Given the description of an element on the screen output the (x, y) to click on. 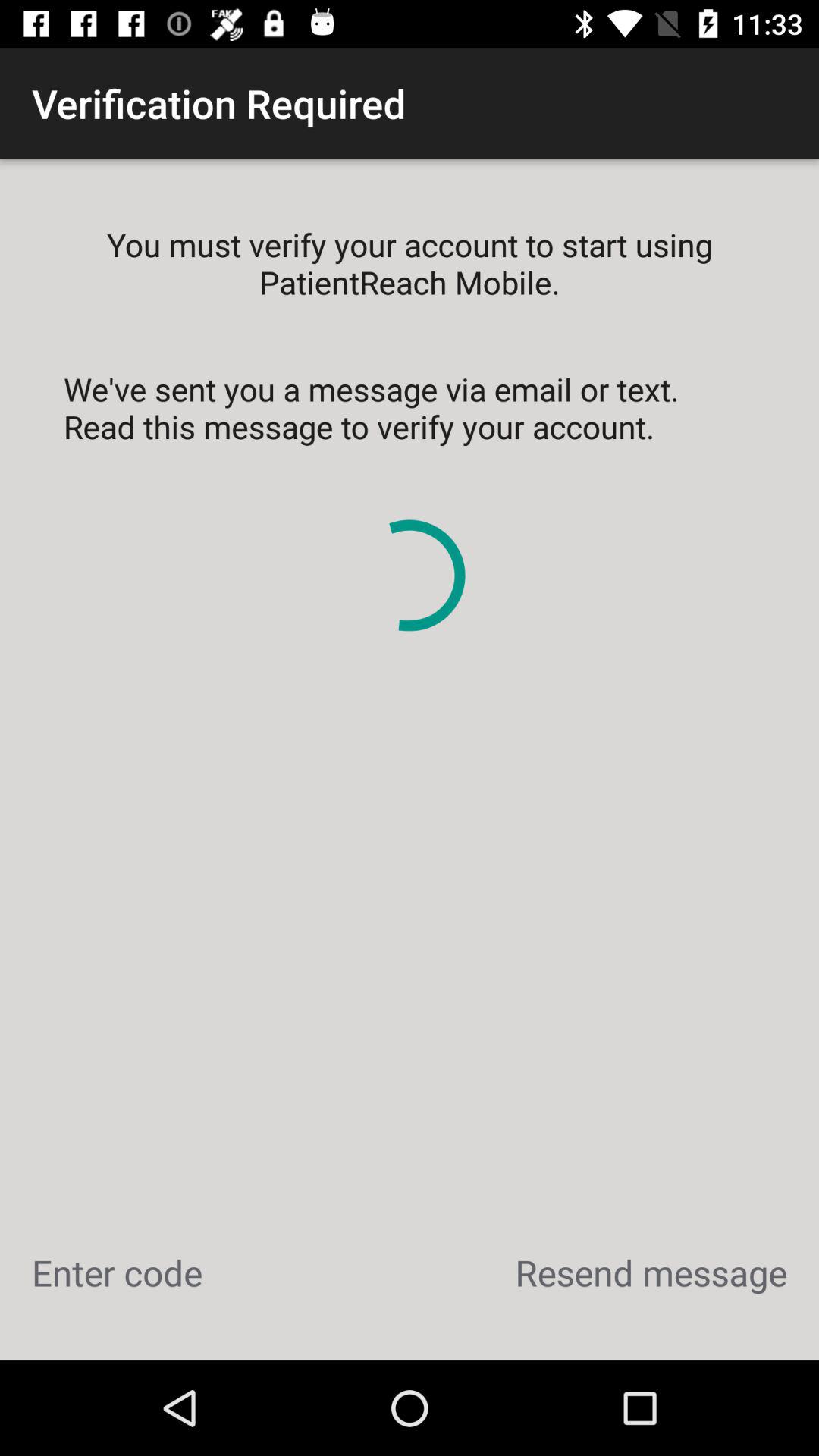
press icon at the bottom left corner (116, 1272)
